Given the description of an element on the screen output the (x, y) to click on. 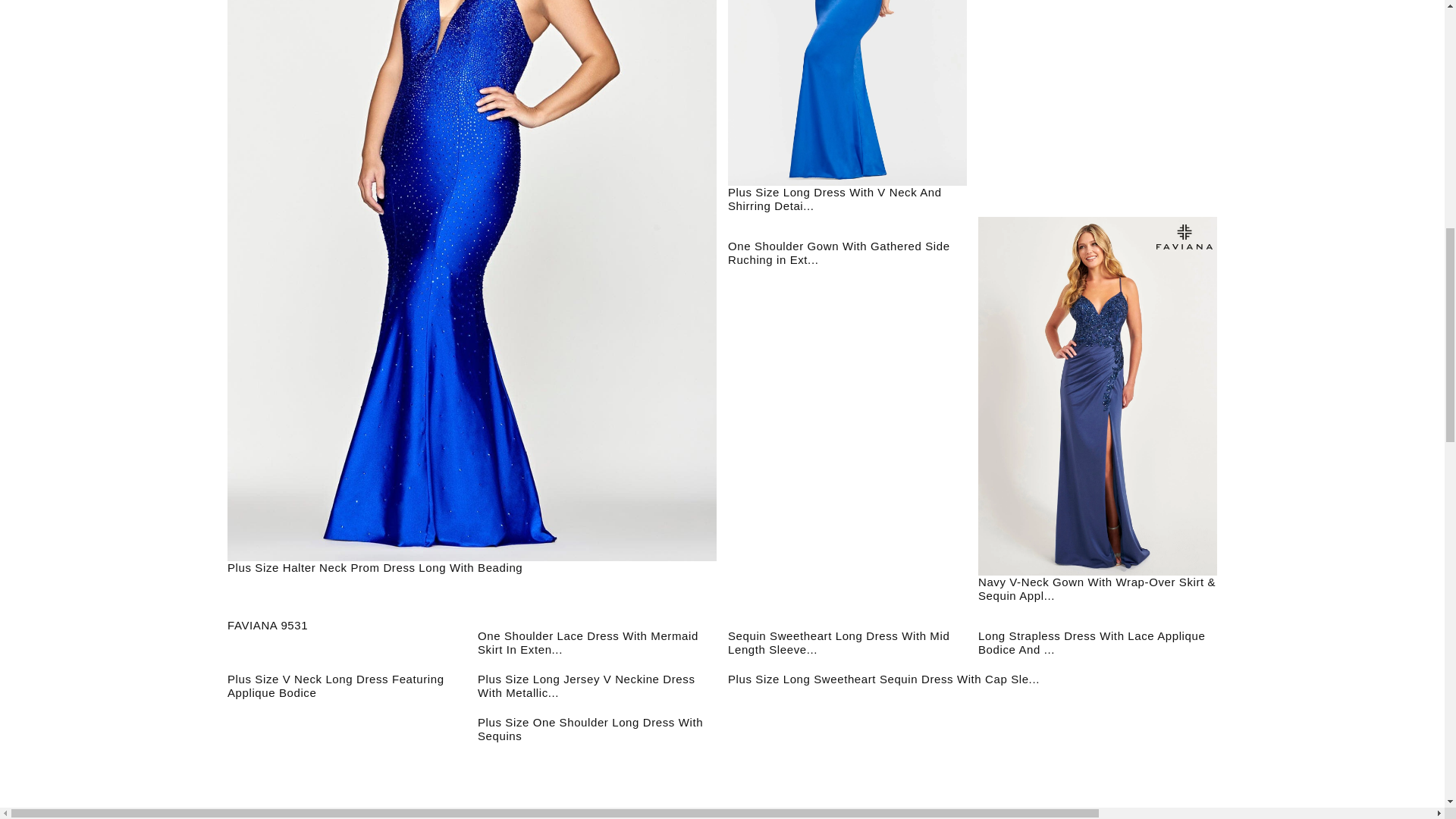
Plus Size Long Dress With V Neck And Shirring Detail Waist (847, 93)
